Given the description of an element on the screen output the (x, y) to click on. 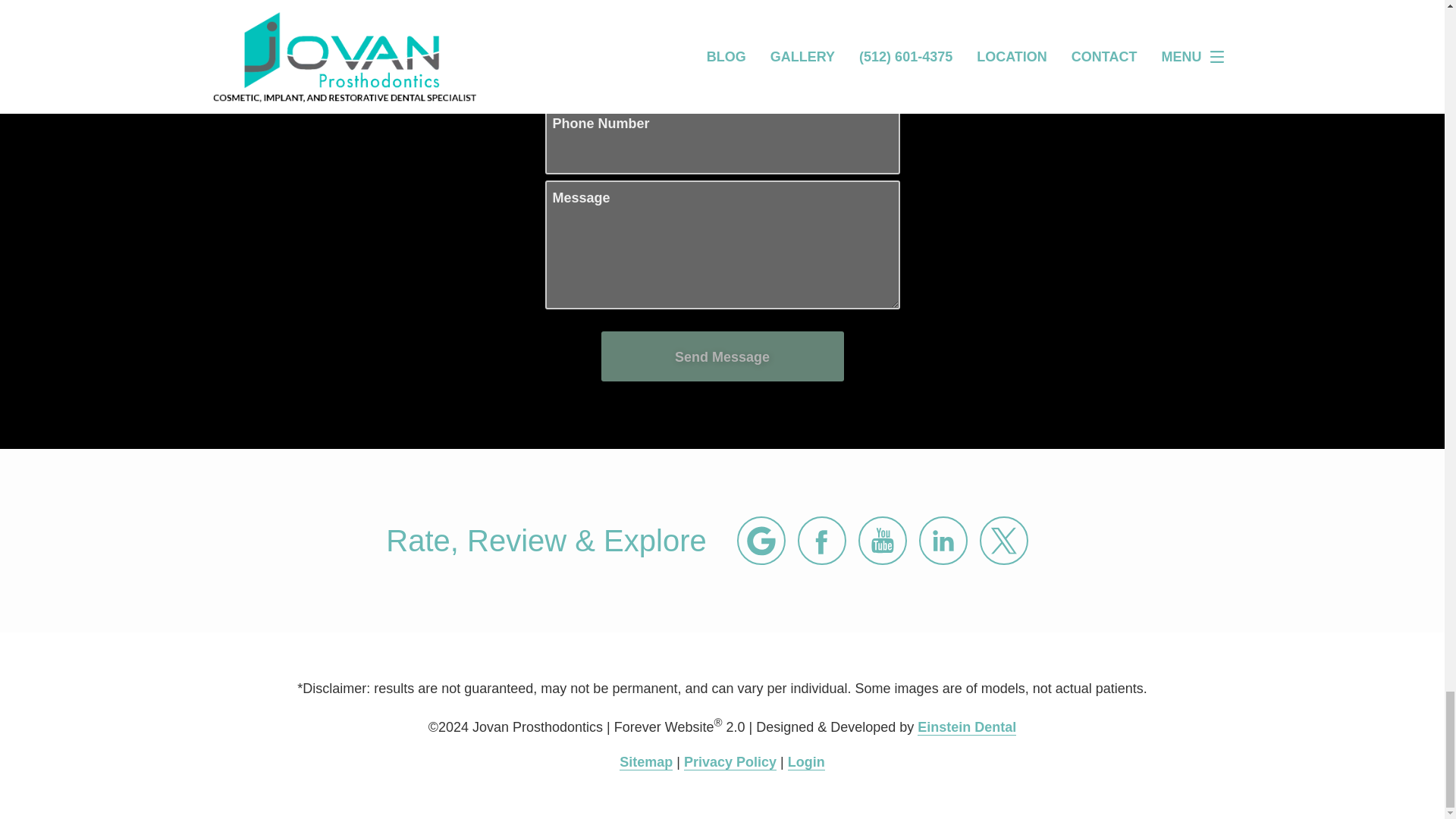
Privacy Policy (730, 762)
YouTube (883, 540)
Login (806, 762)
Sitemap (646, 762)
Google (761, 540)
Twitter (1003, 540)
Einstein Dental (966, 727)
LinkedIn (943, 540)
Send Message (721, 356)
Facebook (821, 540)
